Given the description of an element on the screen output the (x, y) to click on. 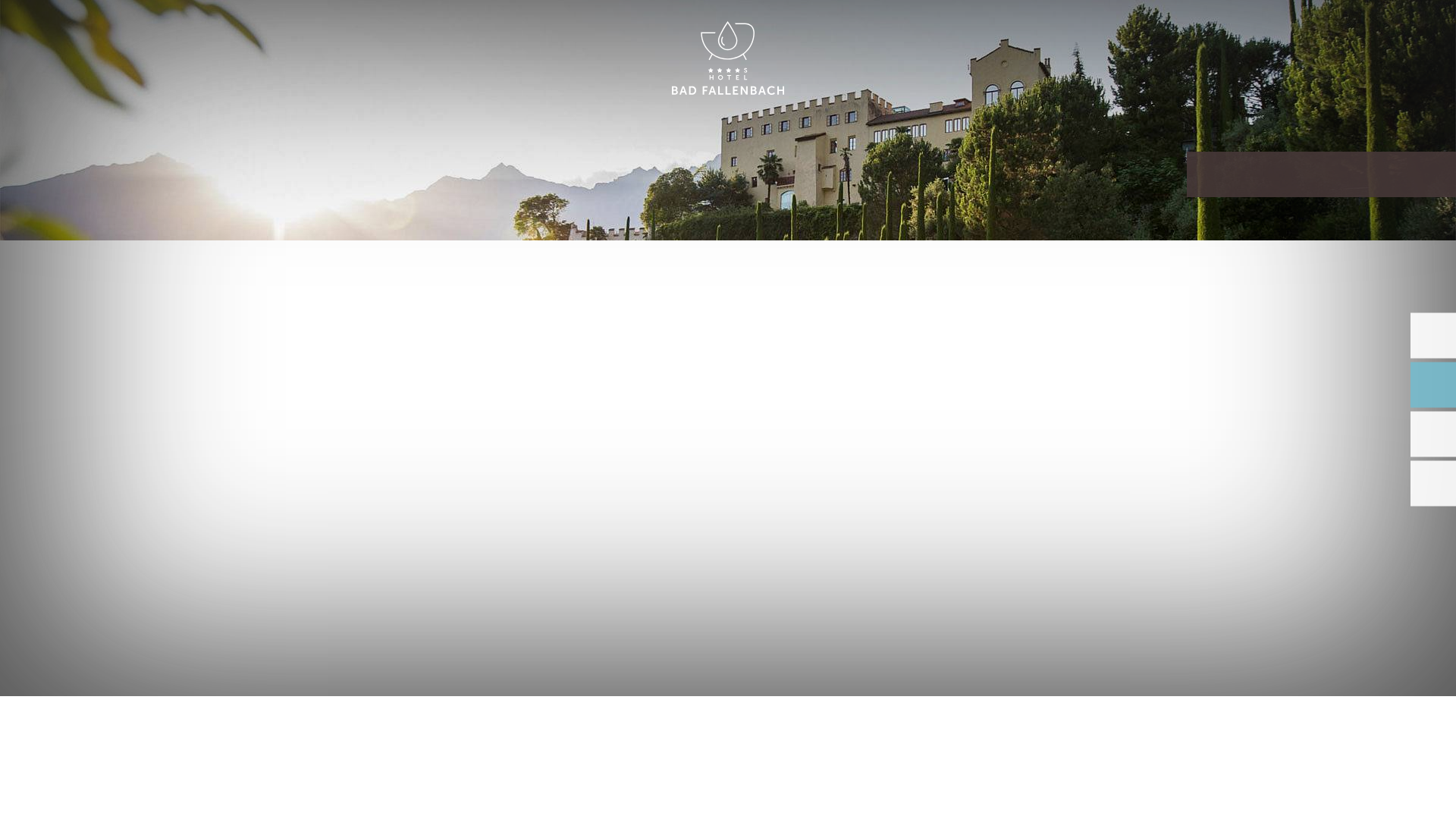
HOTEL BAD FALLENBACH (727, 59)
ENGLISH (1291, 29)
